Given the description of an element on the screen output the (x, y) to click on. 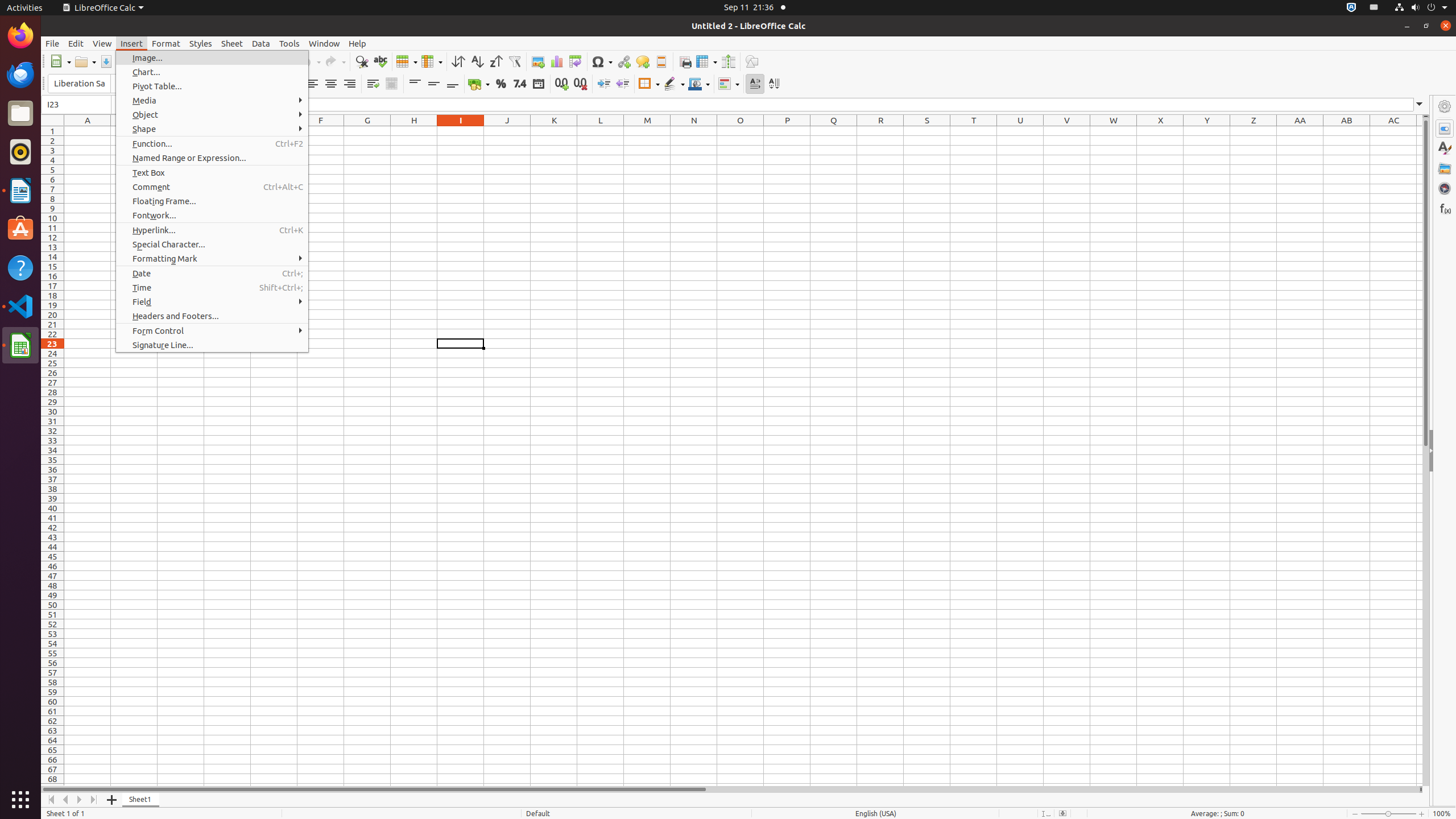
I1 Element type: table-cell (460, 130)
Fontwork... Element type: menu-item (212, 215)
Print Area Element type: push-button (684, 61)
Conditional Element type: push-button (728, 83)
